Given the description of an element on the screen output the (x, y) to click on. 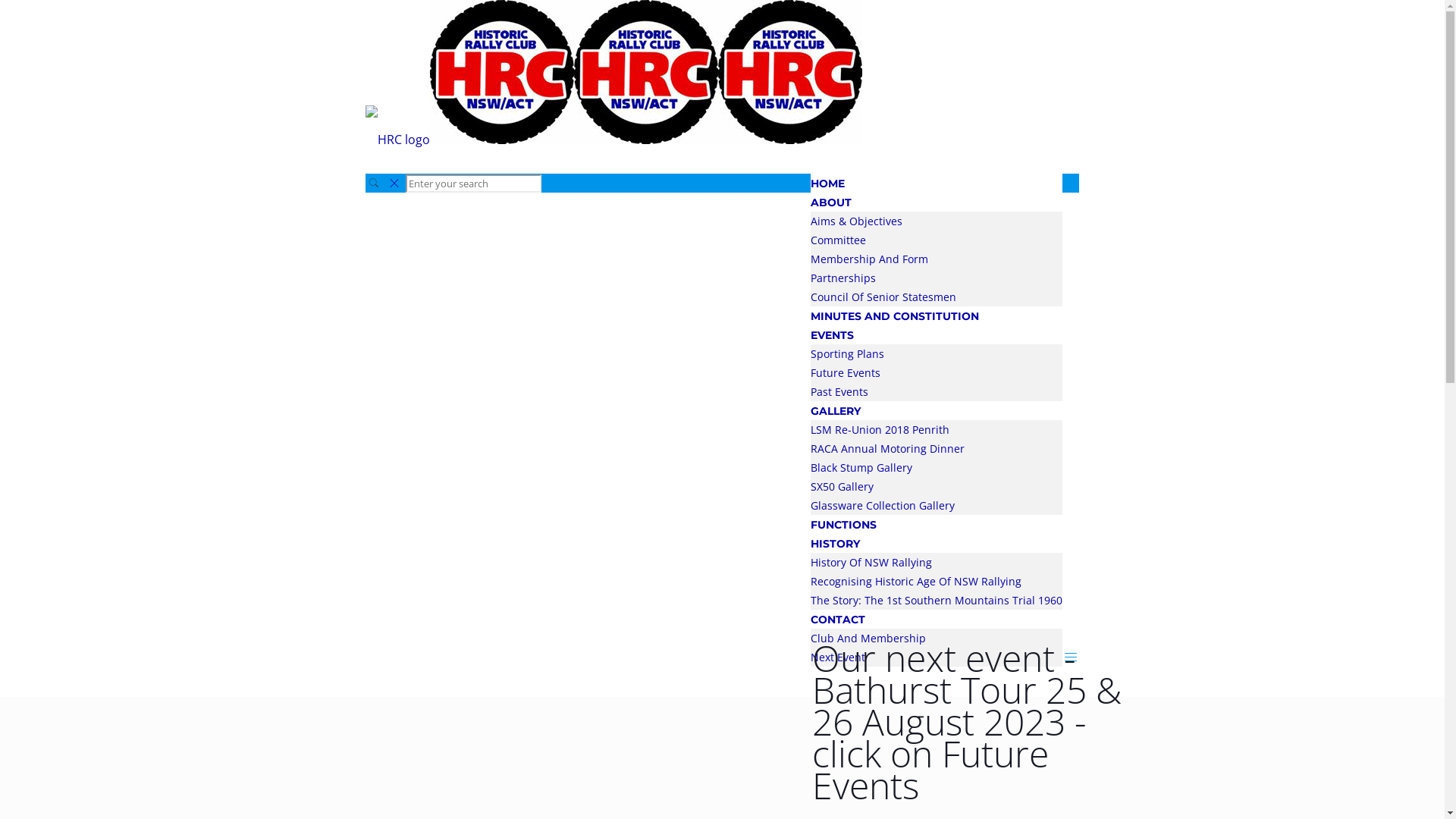
Future Events Element type: text (845, 372)
Glassware Collection Gallery Element type: text (882, 505)
Next Event Element type: text (837, 656)
SX50 Gallery Element type: text (841, 486)
Sporting Plans Element type: text (847, 353)
Club And Membership Element type: text (867, 637)
EVENTS Element type: text (831, 334)
GALLERY Element type: text (835, 410)
Historic Rally Club of NSW & ACT Element type: hover (613, 139)
History Of NSW Rallying Element type: text (870, 562)
Council Of Senior Statesmen Element type: text (883, 296)
Past Events Element type: text (839, 391)
Partnerships Element type: text (842, 277)
FUNCTIONS Element type: text (843, 524)
Aims & Objectives Element type: text (856, 220)
MINUTES AND CONSTITUTION Element type: text (894, 316)
Recognising Historic Age Of NSW Rallying Element type: text (915, 581)
Membership And Form Element type: text (869, 258)
RACA Annual Motoring Dinner Element type: text (887, 448)
The Story: The 1st Southern Mountains Trial 1960 Element type: text (936, 600)
HOME Element type: text (827, 183)
ABOUT Element type: text (830, 202)
HISTORY Element type: text (834, 543)
CONTACT Element type: text (837, 619)
Black Stump Gallery Element type: text (861, 467)
LSM Re-Union 2018 Penrith Element type: text (879, 429)
Committee Element type: text (838, 239)
